Given the description of an element on the screen output the (x, y) to click on. 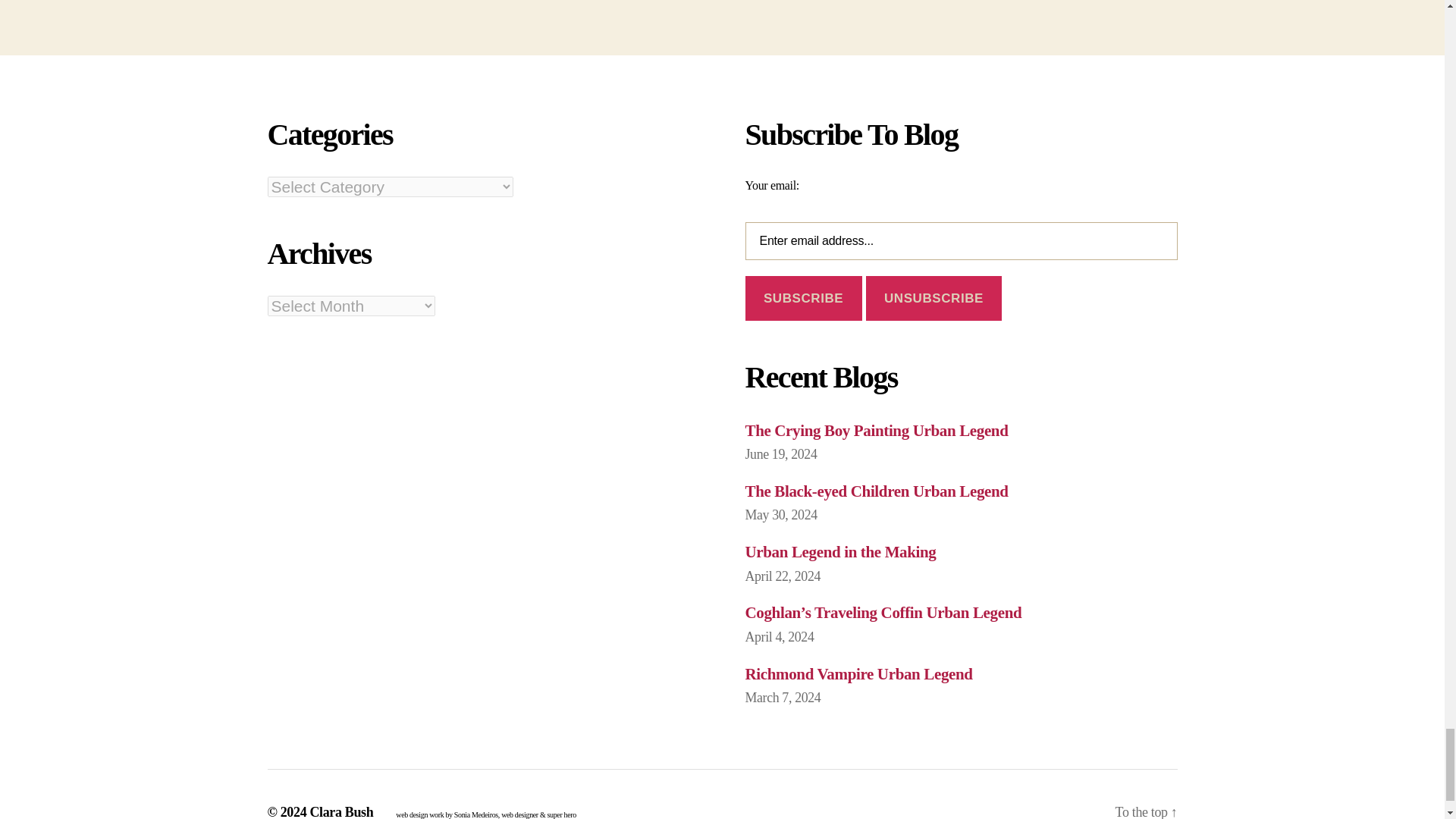
Unsubscribe (934, 298)
Subscribe (802, 298)
Enter email address... (960, 240)
